Given the description of an element on the screen output the (x, y) to click on. 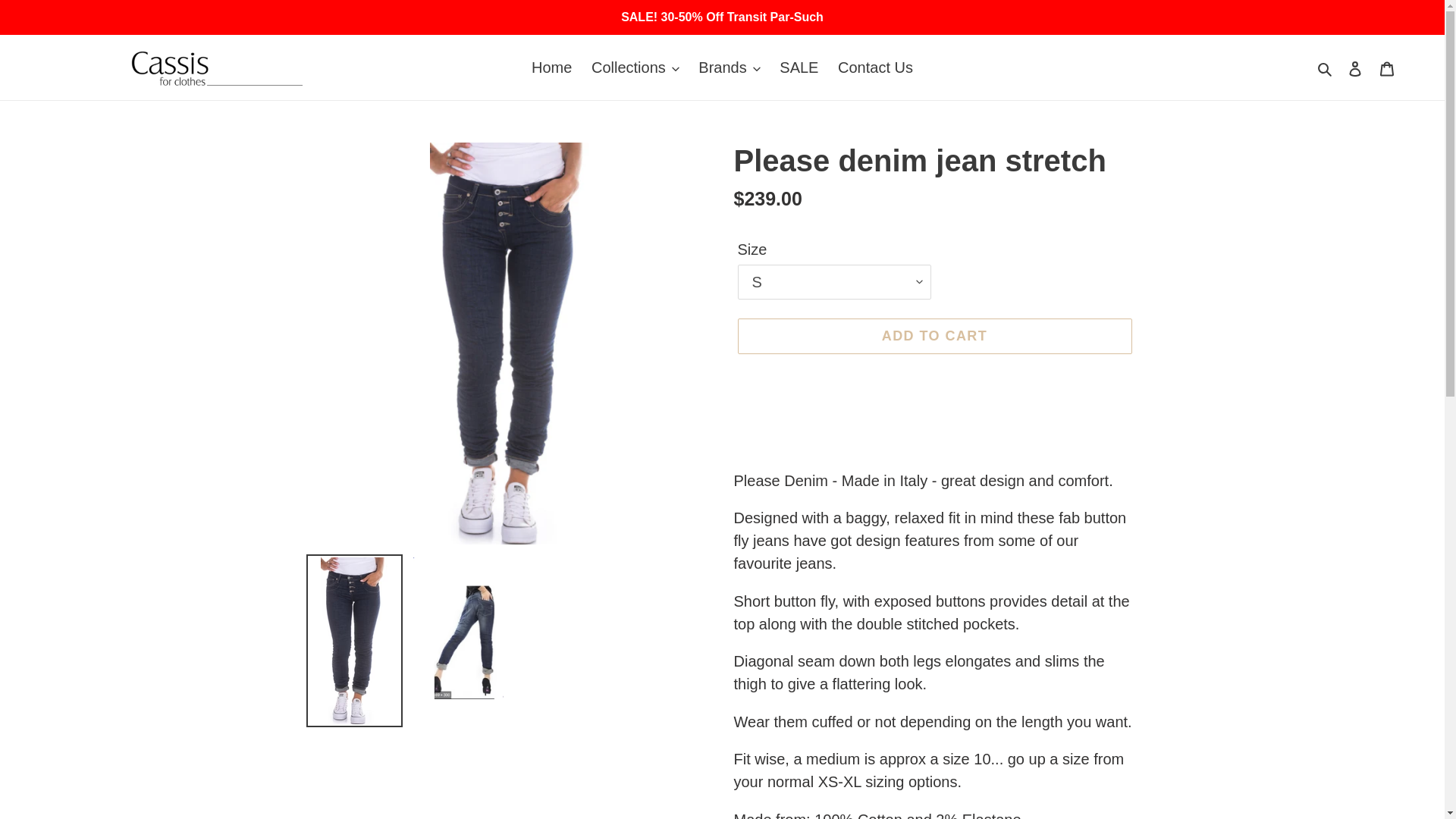
Search (1326, 67)
Collections (635, 67)
Brands (728, 67)
Home (551, 67)
Contact Us (874, 67)
SALE (798, 67)
